Given the description of an element on the screen output the (x, y) to click on. 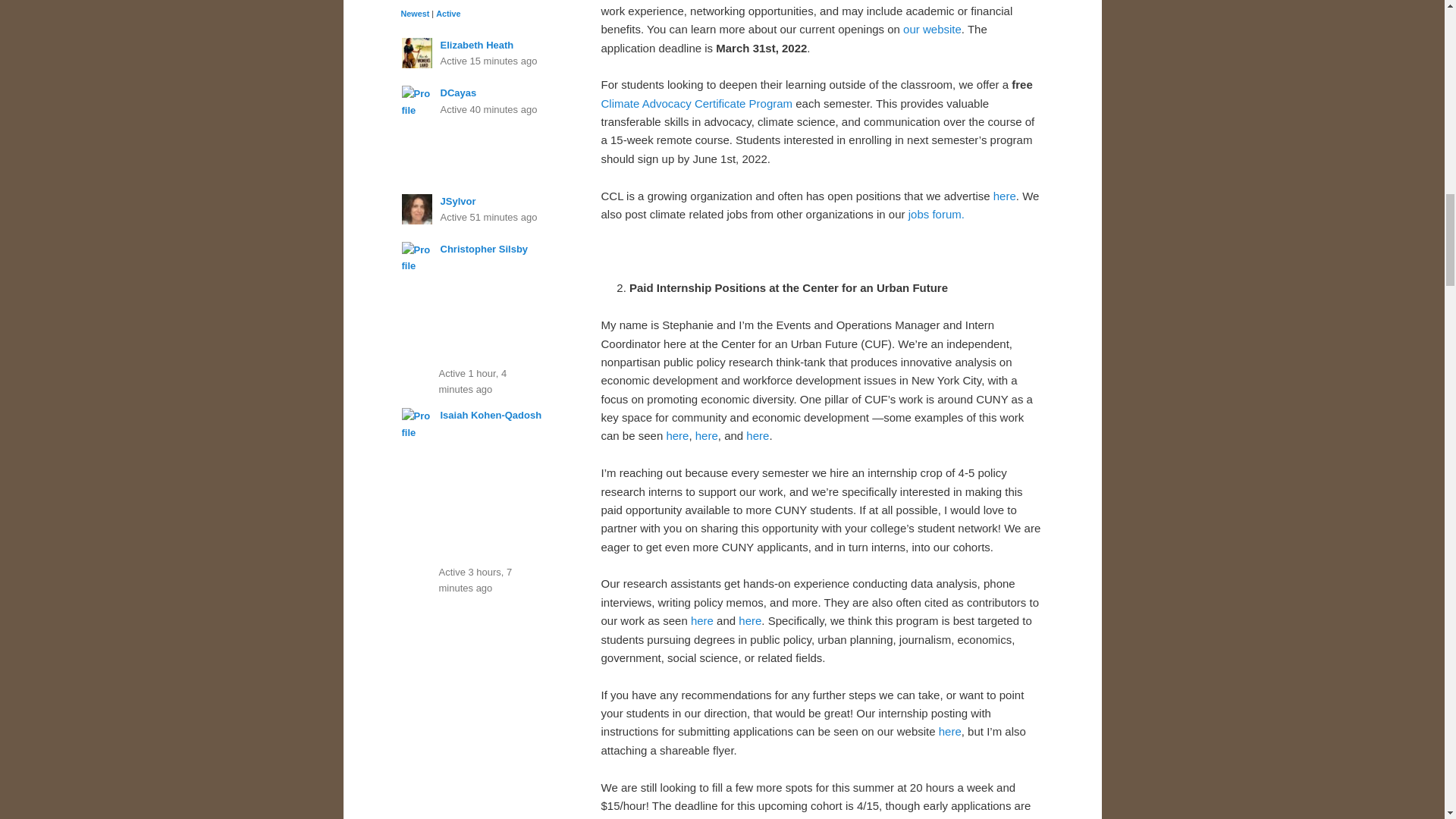
our website (931, 29)
here (701, 620)
jobs forum. (934, 214)
here (706, 435)
Climate Advocacy Certificate Program (695, 103)
here (1004, 195)
here (676, 435)
here (756, 435)
